Given the description of an element on the screen output the (x, y) to click on. 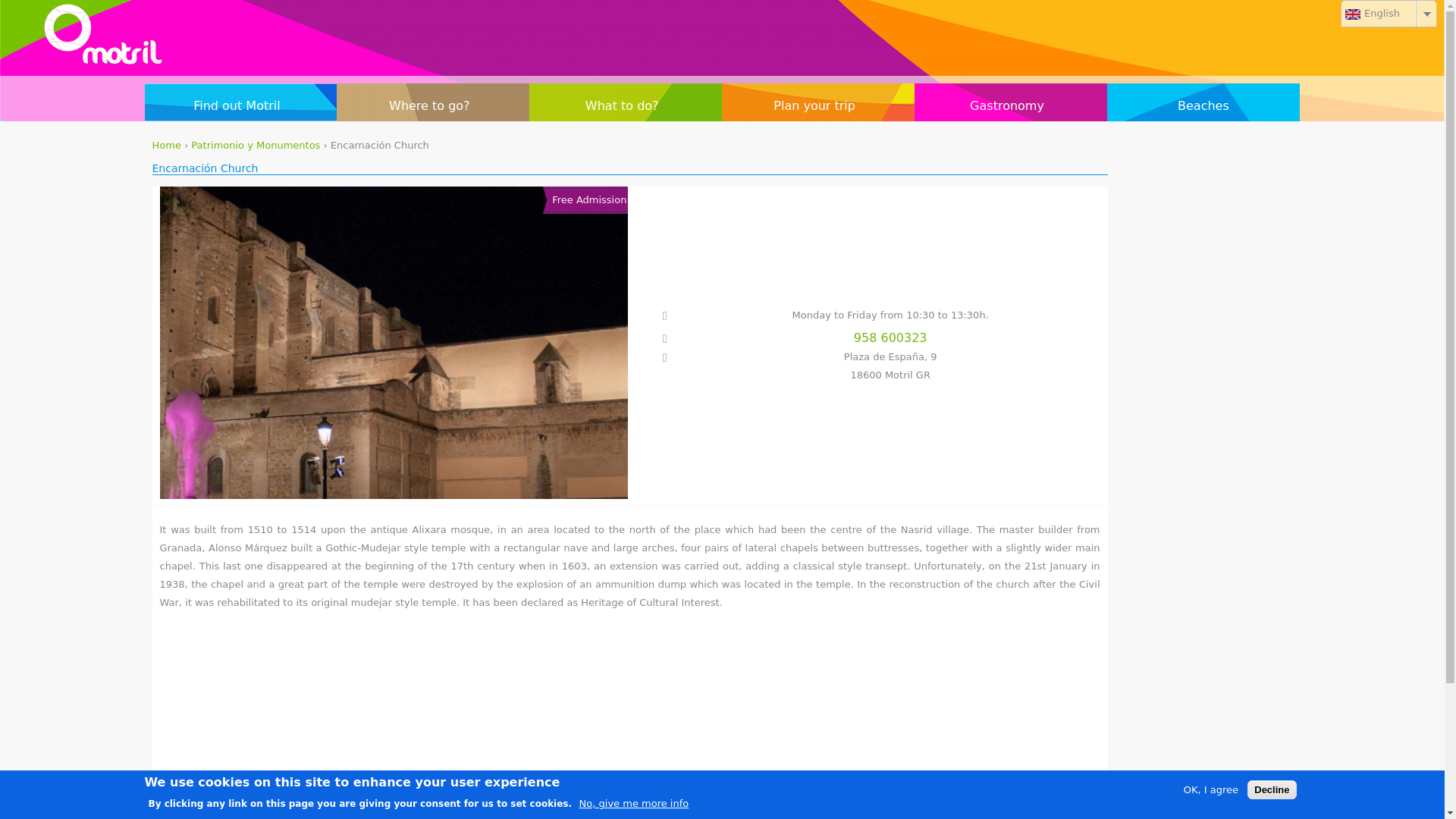
Where to go? (432, 105)
Home (165, 144)
Beaches (1203, 105)
What to do? (625, 105)
Patrimonio y Monumentos (255, 144)
Find out Motril (240, 105)
Gastronomy (1010, 105)
Plan your trip (818, 105)
958 600323 (865, 338)
